Given the description of an element on the screen output the (x, y) to click on. 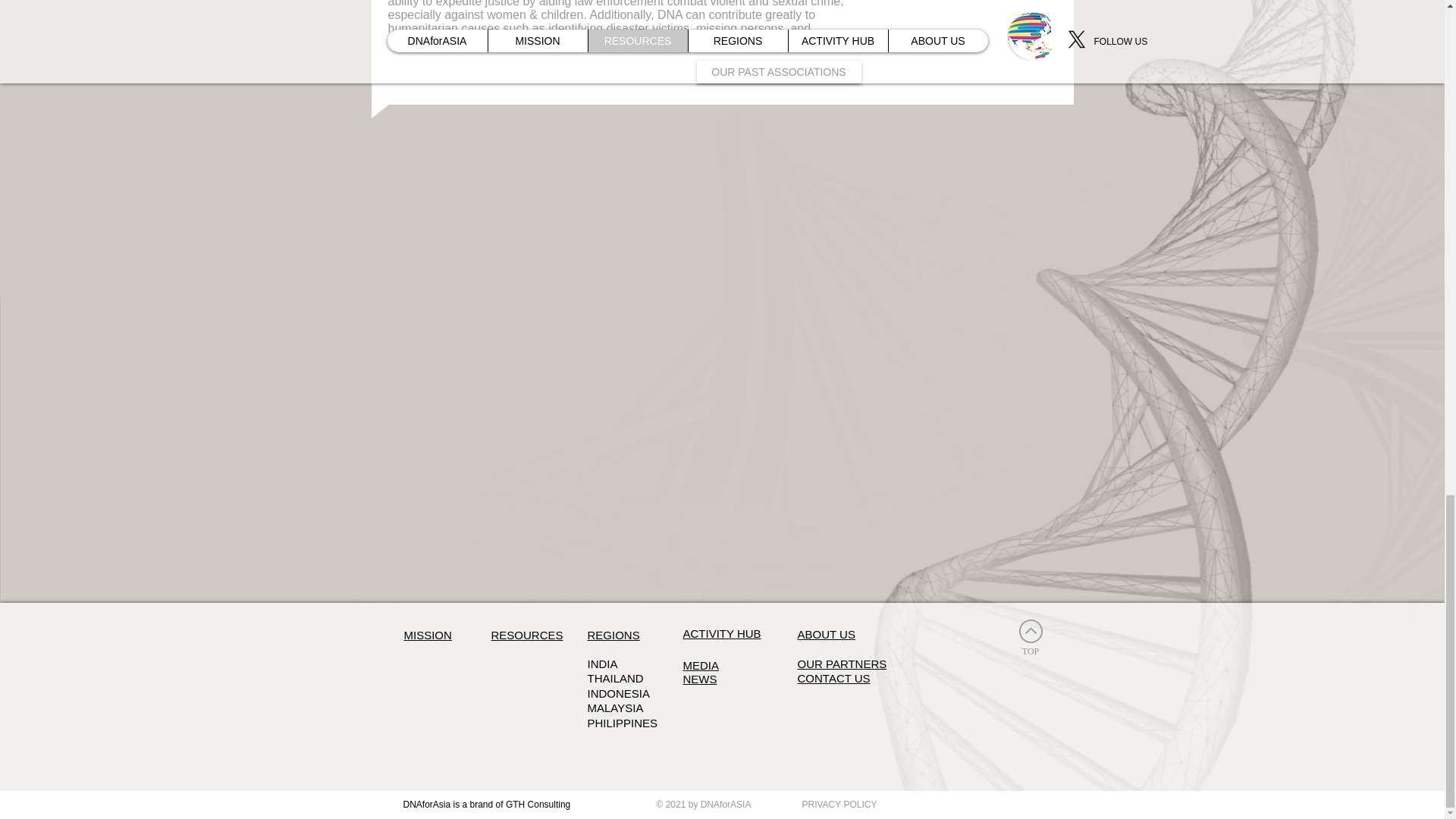
ACTIVITY HUB (721, 633)
MEDIA (700, 665)
REGIONS (612, 635)
OUR PARTNERS (841, 664)
RESOURCES (527, 635)
CONTACT US (833, 678)
MISSION (427, 635)
ABOUT US (826, 634)
PRIVACY POLICY (840, 804)
NEWS (699, 679)
